Given the description of an element on the screen output the (x, y) to click on. 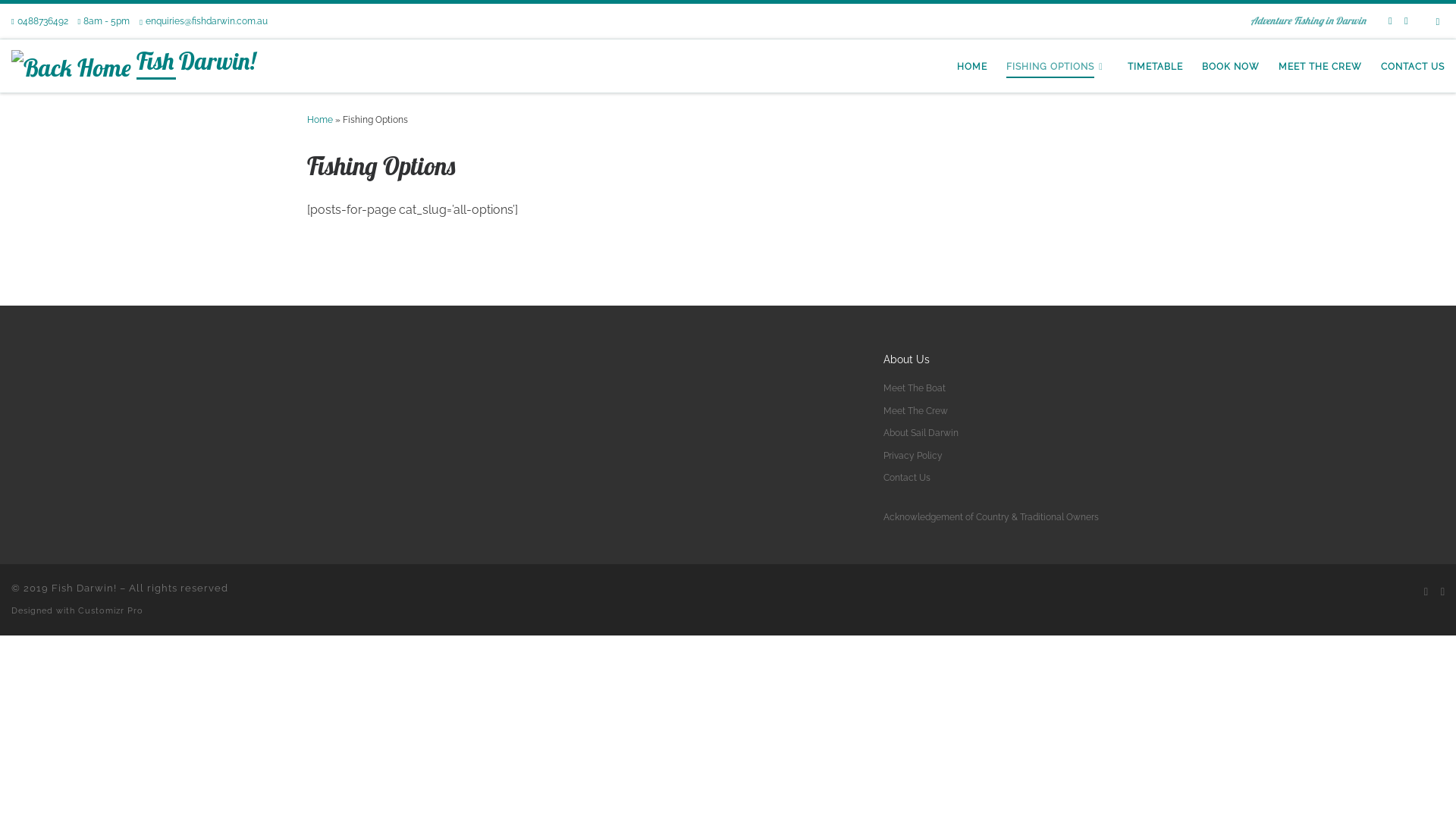
Privacy Policy Element type: text (912, 455)
About Sail Darwin Element type: text (920, 432)
Follow me on Instagram Element type: hover (1406, 21)
MEET THE CREW Element type: text (1320, 66)
Acknowledgement of Country & Traditional Owners Element type: text (990, 516)
Meet The Boat Element type: text (914, 387)
FISHING OPTIONS Element type: text (1057, 66)
HOME Element type: text (972, 66)
BOOK NOW Element type: text (1230, 66)
Fish Darwin! Element type: text (83, 587)
Follow me on Facebook Element type: hover (1425, 591)
Fish Darwin! | Adventure Fishing in Darwin Element type: hover (71, 64)
enquiries@fishdarwin.com.au Element type: text (203, 20)
CONTACT US Element type: text (1412, 66)
Follow me on Facebook Element type: hover (1390, 21)
TIMETABLE Element type: text (1155, 66)
Fish Darwin! Element type: text (195, 63)
Home Element type: text (319, 119)
Meet The Crew Element type: text (915, 410)
0488736492 Element type: text (39, 20)
Follow me on Instagram Element type: hover (1442, 591)
Contact Us Element type: text (906, 477)
Customizr Pro Element type: text (110, 610)
